Given the description of an element on the screen output the (x, y) to click on. 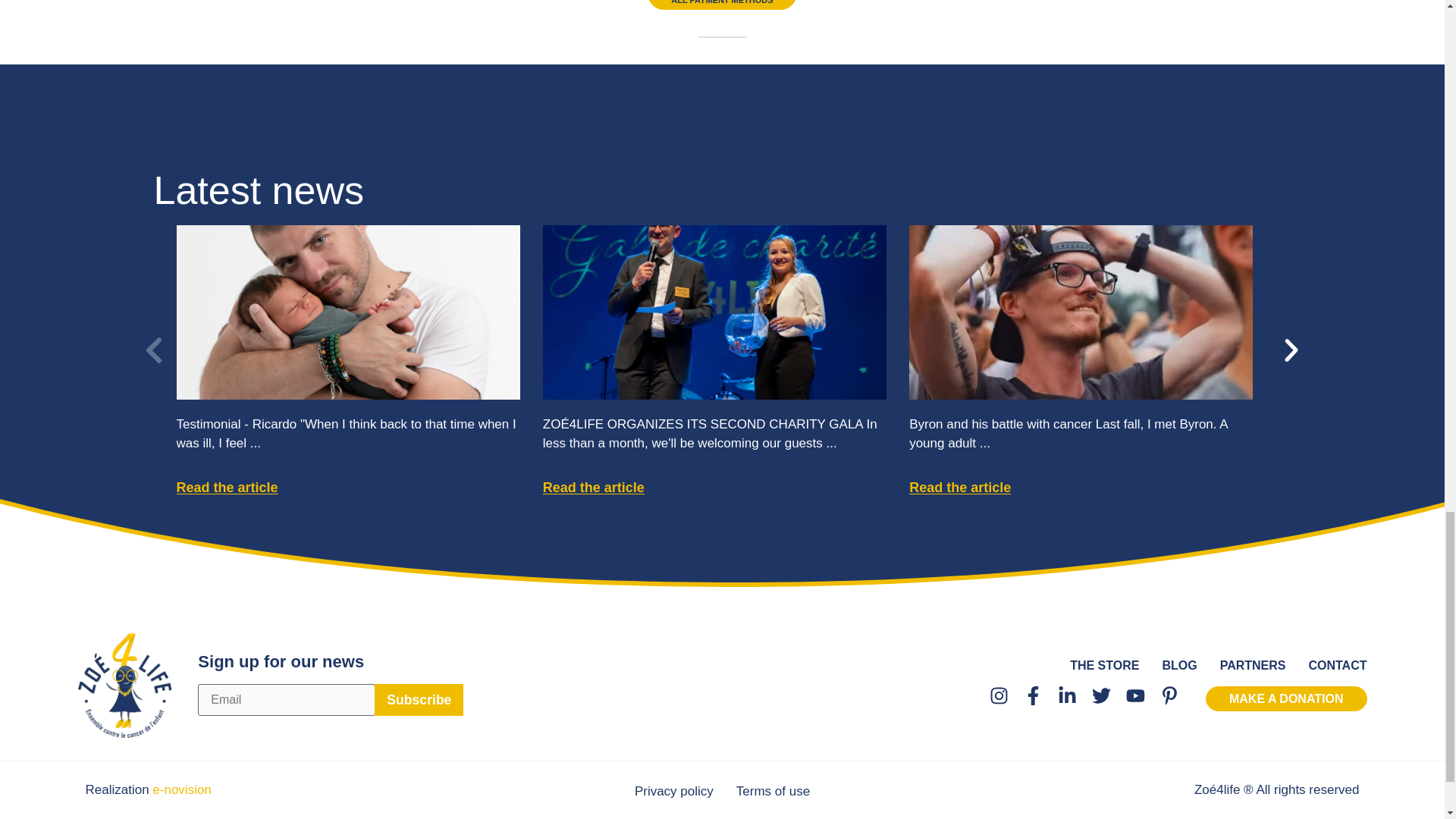
logo-full-zoe4life (124, 685)
Subscribe (418, 699)
